Given the description of an element on the screen output the (x, y) to click on. 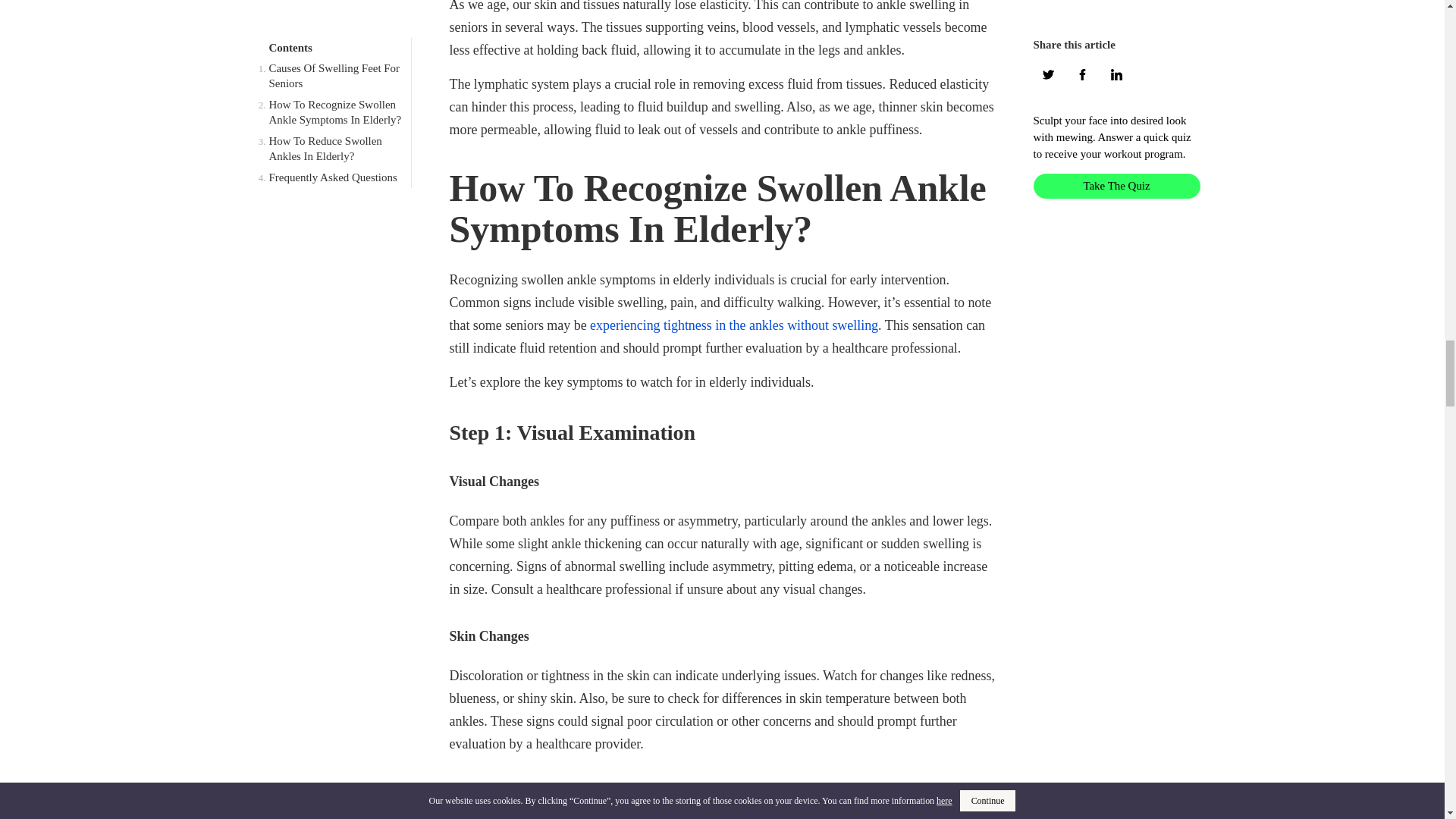
experiencing tightness in the ankles without swelling (733, 324)
